Given the description of an element on the screen output the (x, y) to click on. 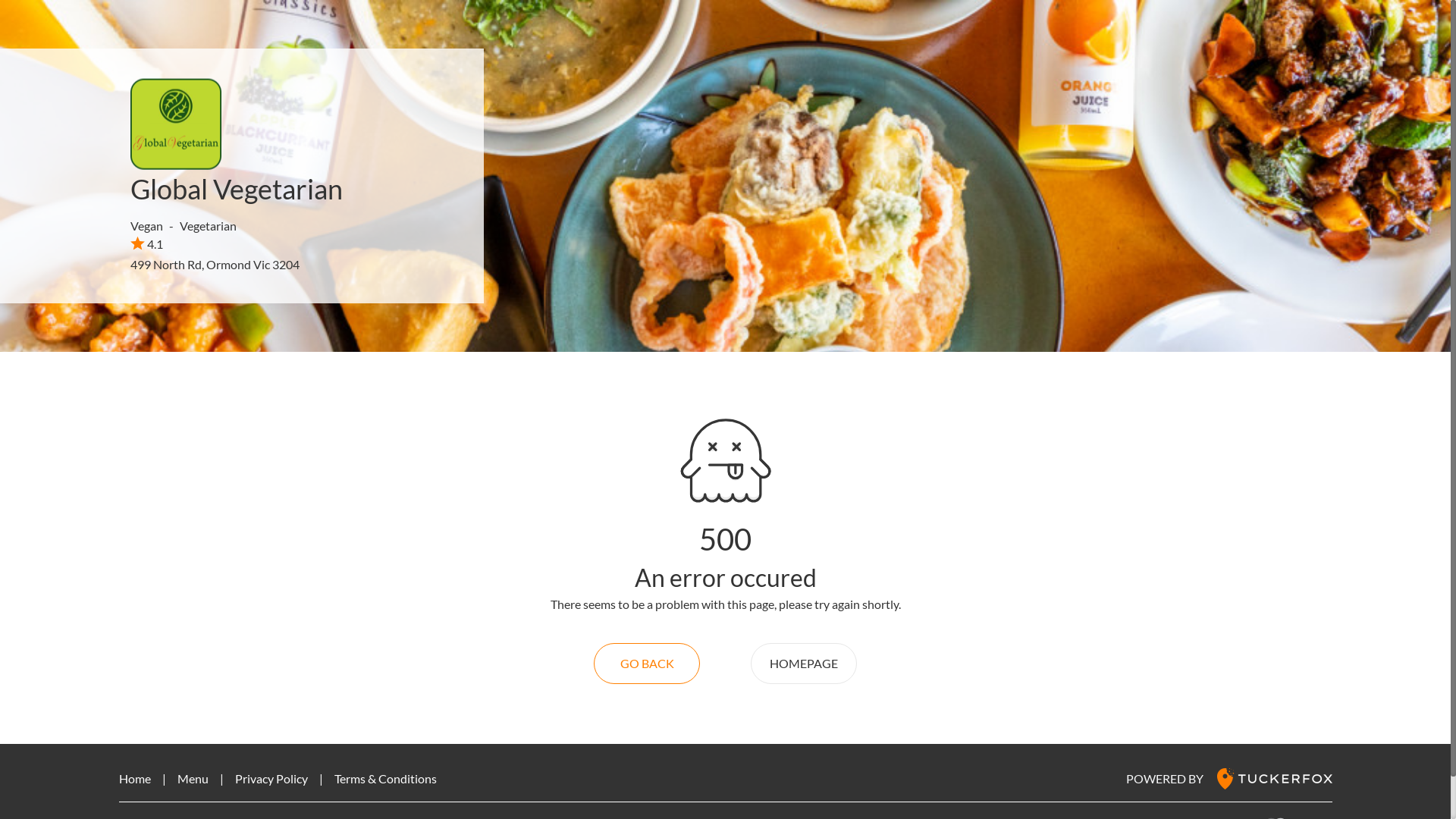
Menu Element type: text (192, 778)
4.1 Element type: text (146, 243)
HOMEPAGE Element type: text (803, 663)
Terms & Conditions Element type: text (384, 778)
Global Vegetarian Element type: text (236, 188)
GO BACK Element type: text (646, 663)
Privacy Policy Element type: text (271, 778)
Home Element type: text (134, 778)
